Given the description of an element on the screen output the (x, y) to click on. 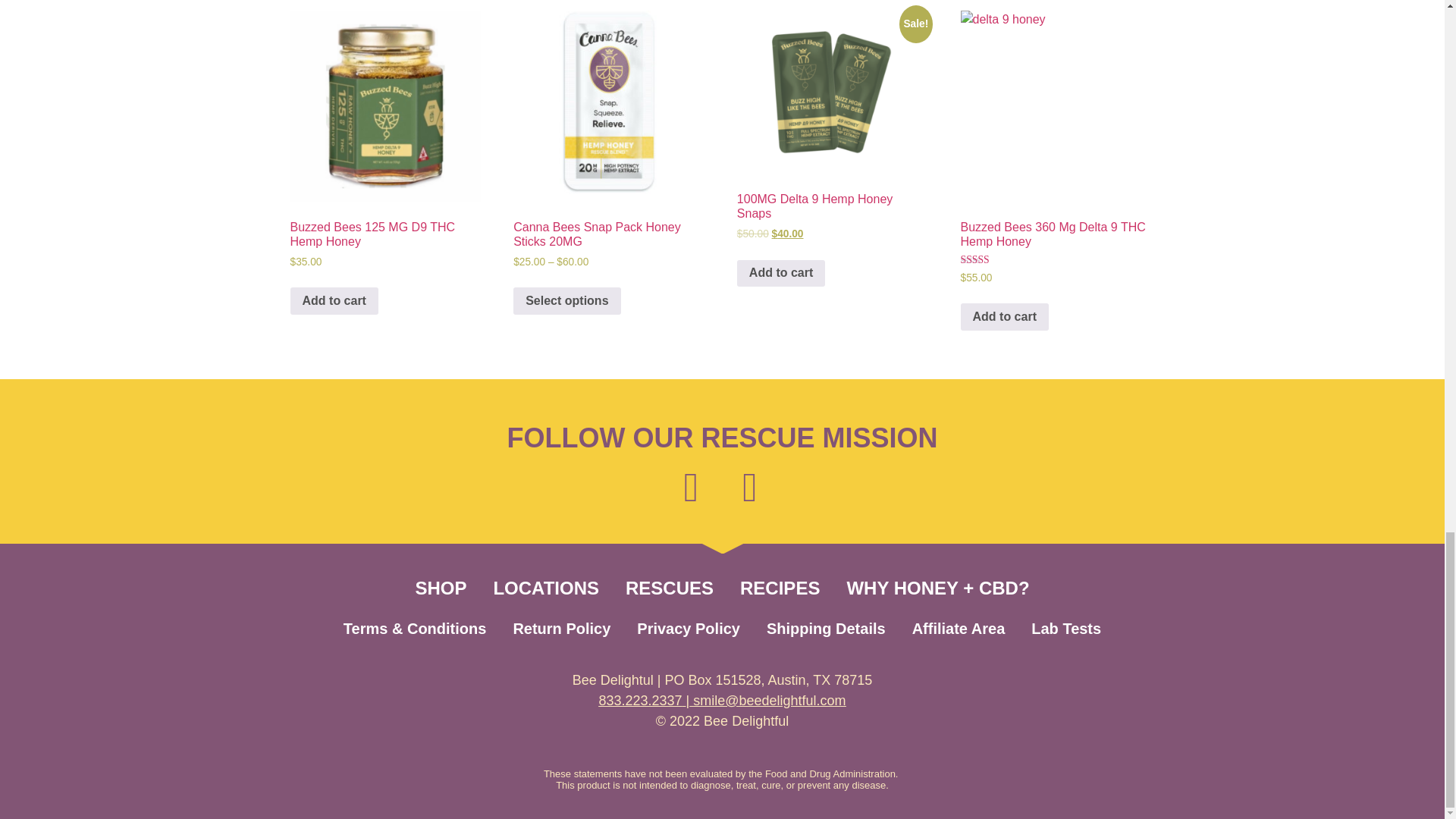
Add to cart (1004, 316)
Add to cart (780, 273)
Add to cart (333, 300)
Select options (566, 300)
